Given the description of an element on the screen output the (x, y) to click on. 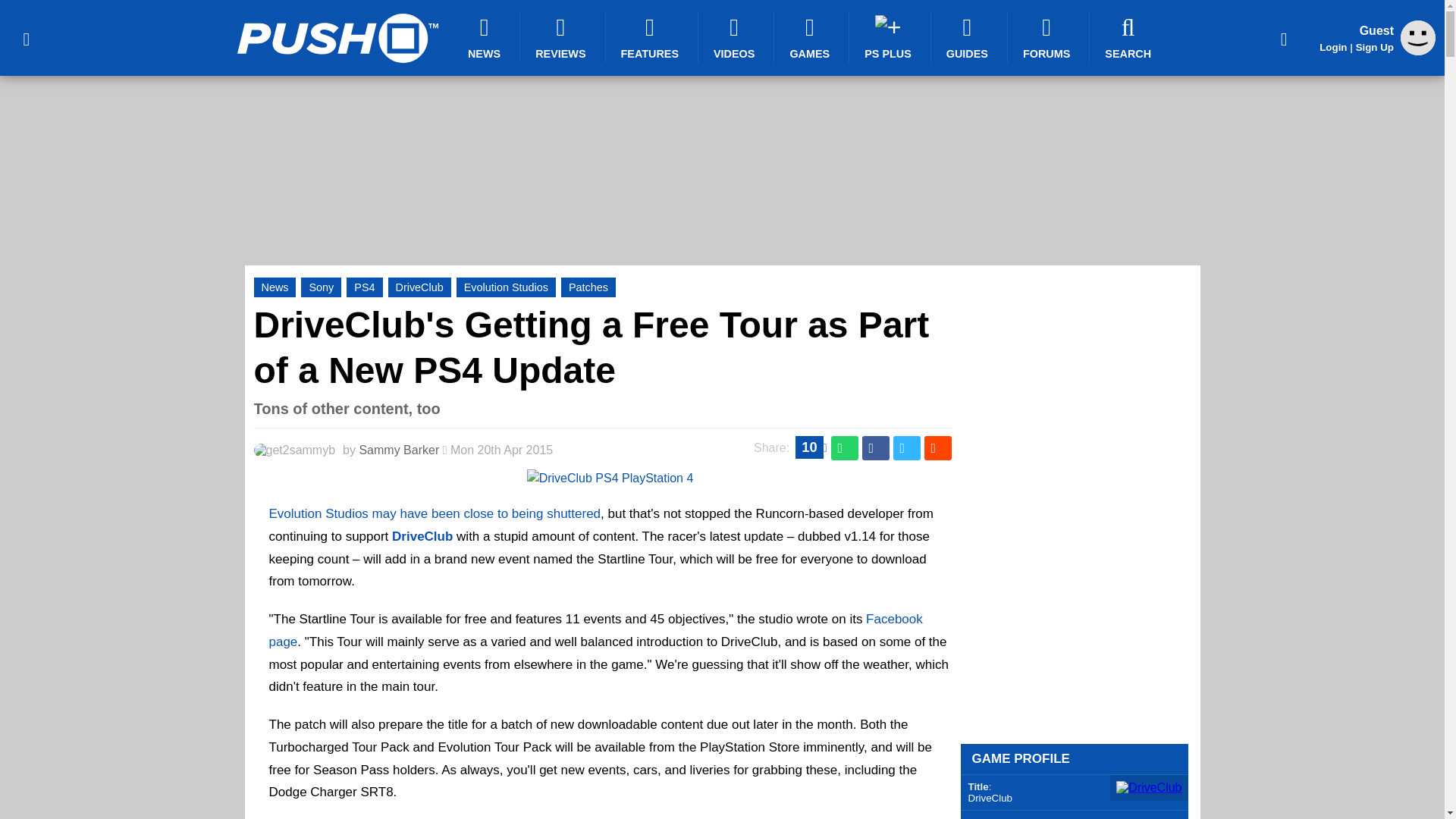
VIDEOS (736, 37)
PS PLUS (889, 37)
Guest (1417, 51)
PS4 (363, 287)
Sony (320, 287)
Sammy Barker (398, 449)
FORUMS (1048, 37)
Evolution Studios (506, 287)
Guest (1417, 37)
SEARCH (1129, 37)
